Given the description of an element on the screen output the (x, y) to click on. 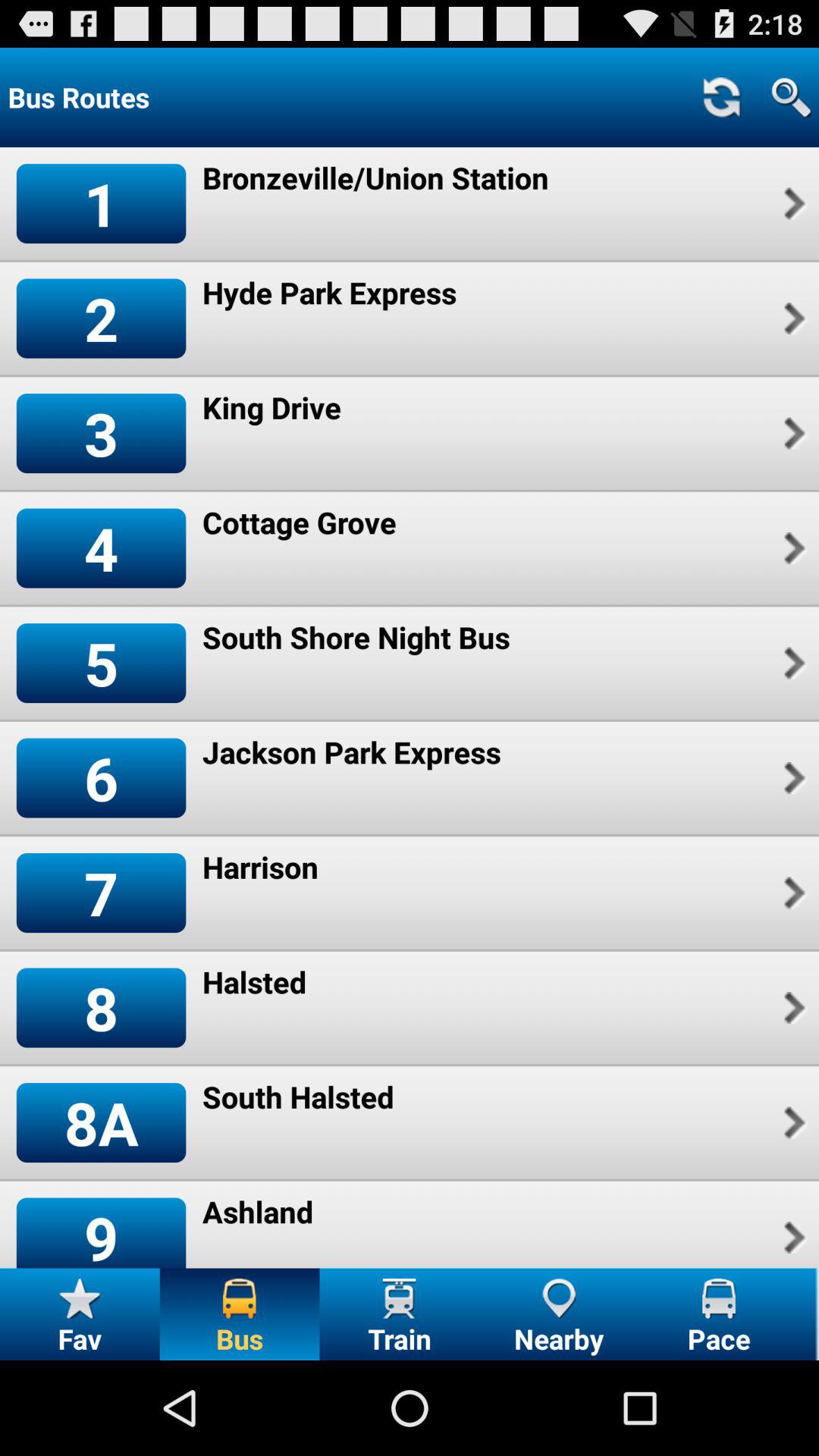
click on the search icon (791, 97)
click on the button right to the text harrison (793, 892)
click on icon on the right side of south halsted (793, 1122)
select the icon on the bottom right corner of the web page (718, 1298)
